Given the description of an element on the screen output the (x, y) to click on. 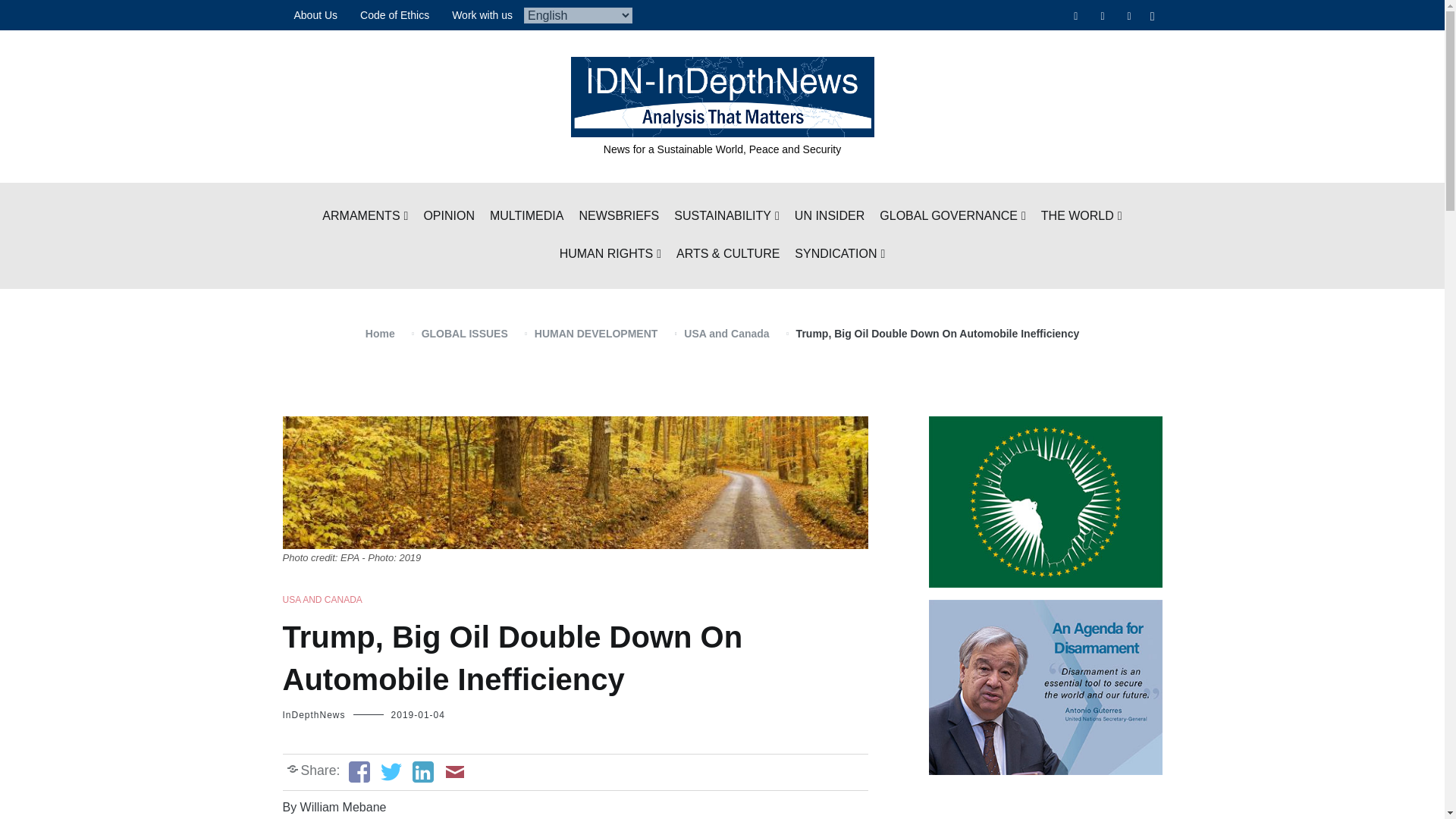
About Us (315, 14)
GLOBAL GOVERNANCE (952, 216)
UN INSIDER (829, 216)
OPINION (448, 216)
NEWSBRIEFS (618, 216)
MULTIMEDIA (526, 216)
ARMAMENTS (364, 216)
Code of Ethics (395, 14)
Work with us (482, 14)
SUSTAINABILITY (726, 216)
